Given the description of an element on the screen output the (x, y) to click on. 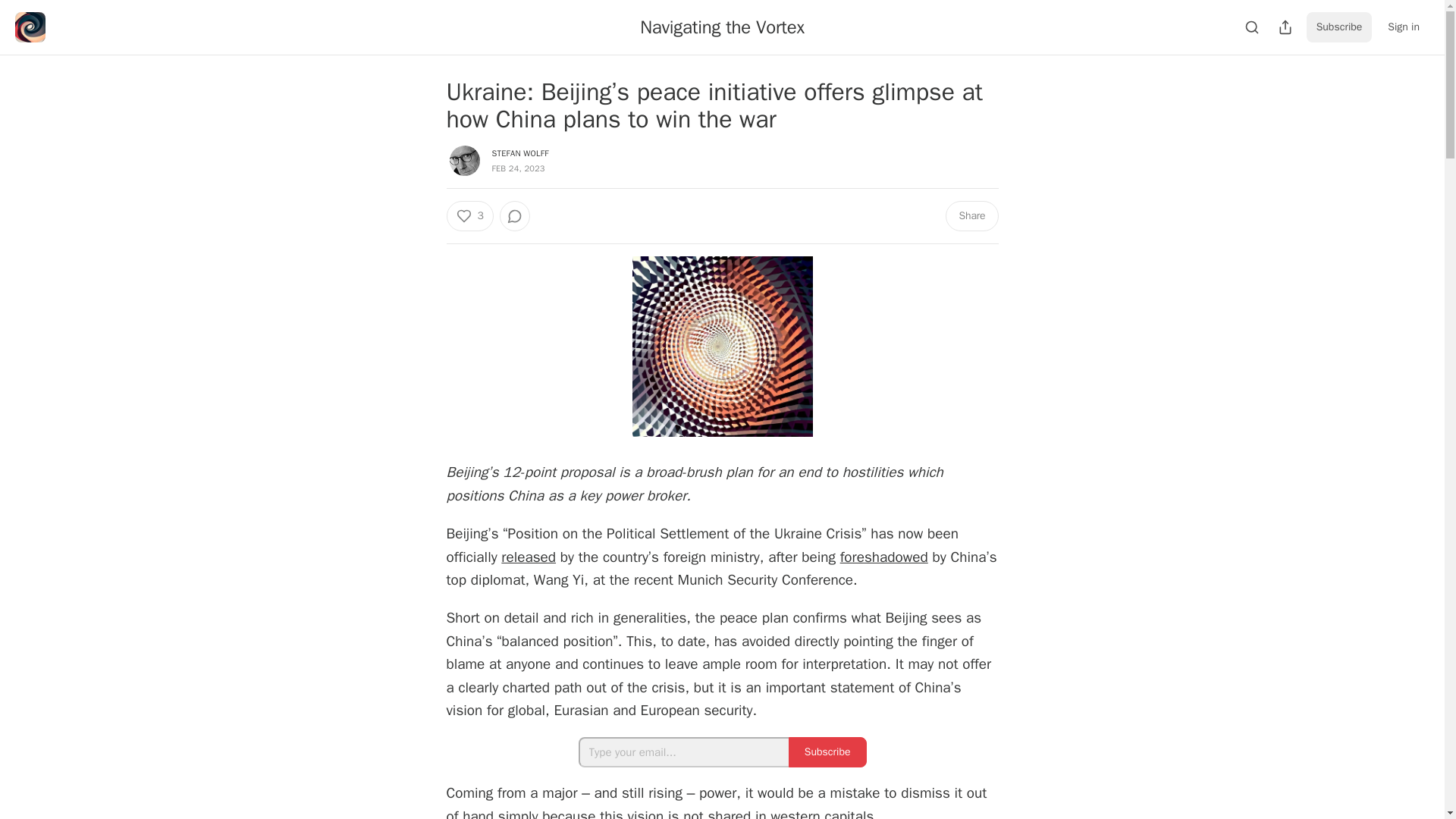
foreshadowed (884, 556)
Sign in (1403, 27)
Share (970, 215)
Navigating the Vortex (722, 26)
Subscribe (827, 752)
Subscribe (1339, 27)
released (528, 556)
STEFAN WOLFF (520, 153)
3 (469, 215)
